Given the description of an element on the screen output the (x, y) to click on. 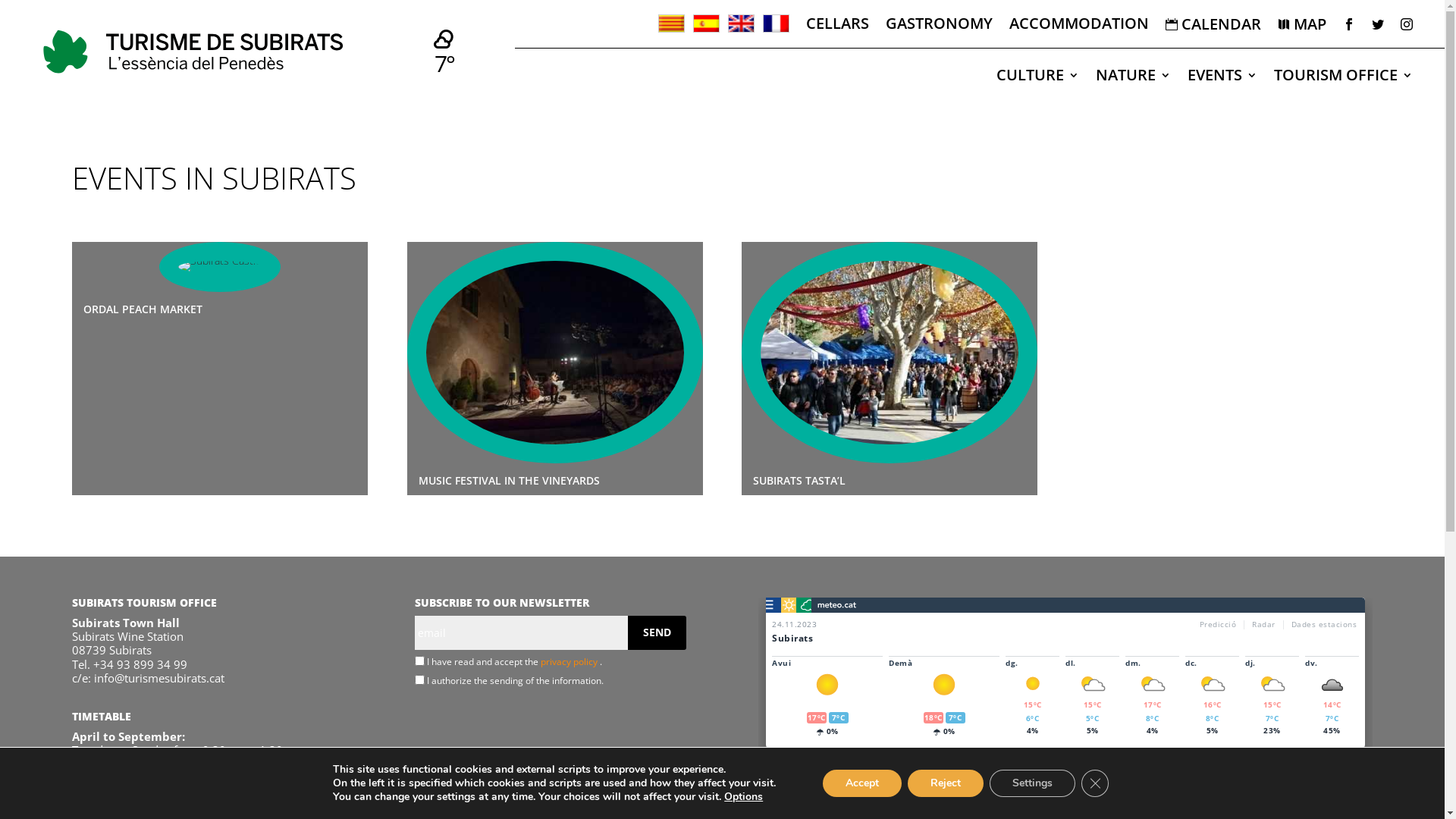
Send Element type: text (656, 632)
info@turismesubirats.cat Element type: text (159, 677)
TOURISM OFFICE Element type: text (1343, 77)
privacy policy Element type: text (569, 661)
Close GDPR Cookie Banner Element type: text (1094, 783)
Accept Element type: text (861, 783)
CULTURE Element type: text (1037, 77)
Subirats Wine Station
08739 Subirats Element type: text (127, 642)
Reject Element type: text (945, 783)
GASTRONOMY Element type: text (938, 28)
CELLARS Element type: text (837, 28)
ACCOMMODATION Element type: text (1078, 28)
NATURE Element type: text (1132, 77)
EVENTS Element type: text (1222, 77)
Settings Element type: text (1032, 783)
Tel. +34 93 899 34 99 Element type: text (129, 663)
